Given the description of an element on the screen output the (x, y) to click on. 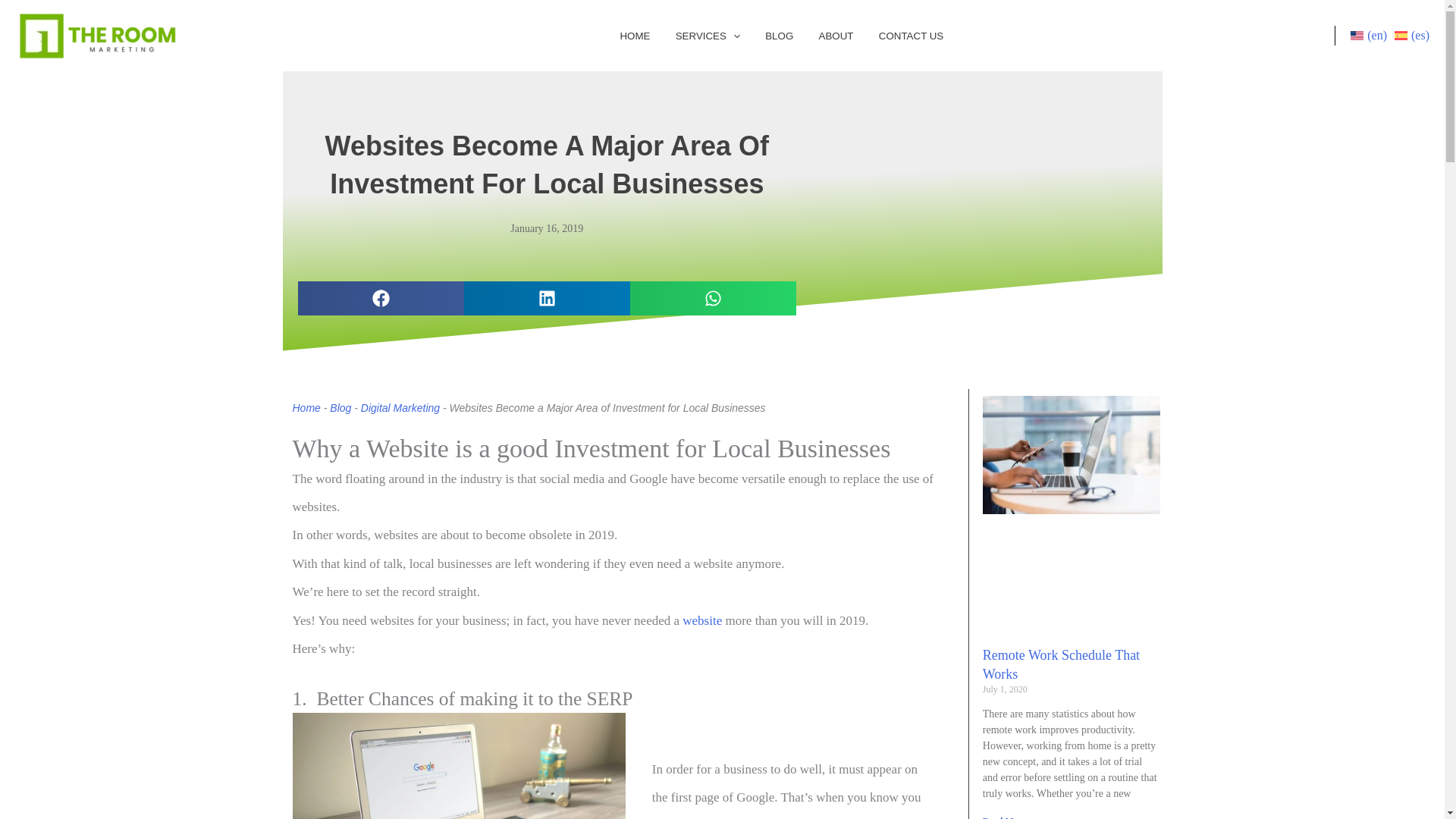
Digital Marketing (459, 765)
CONTACT US (908, 35)
HOME (631, 35)
SERVICES (705, 35)
ABOUT (833, 35)
BLOG (776, 35)
